Given the description of an element on the screen output the (x, y) to click on. 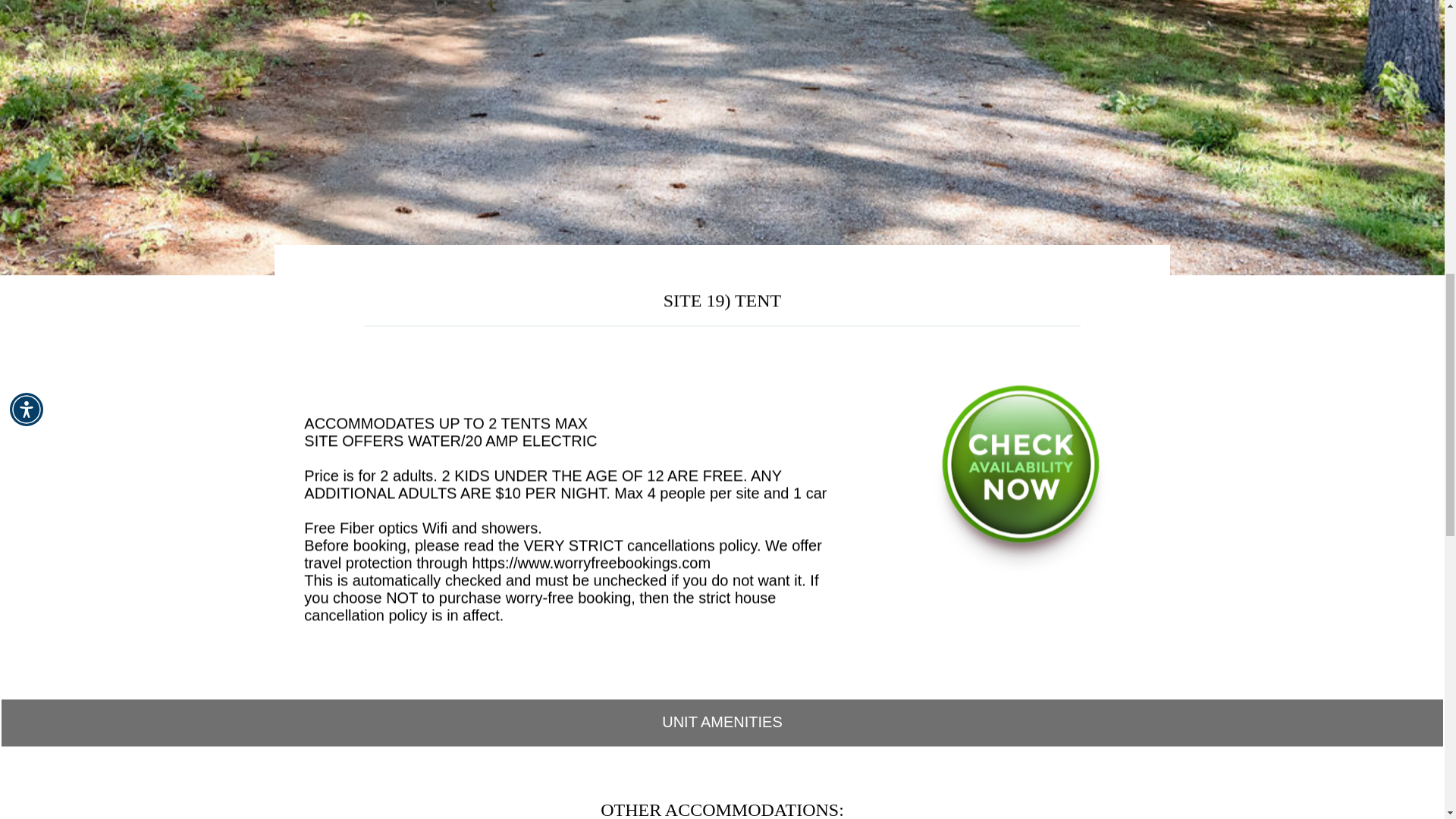
1 (688, 267)
Book TENT Now (1020, 567)
3 (733, 267)
2 (711, 267)
4 (756, 267)
